Given the description of an element on the screen output the (x, y) to click on. 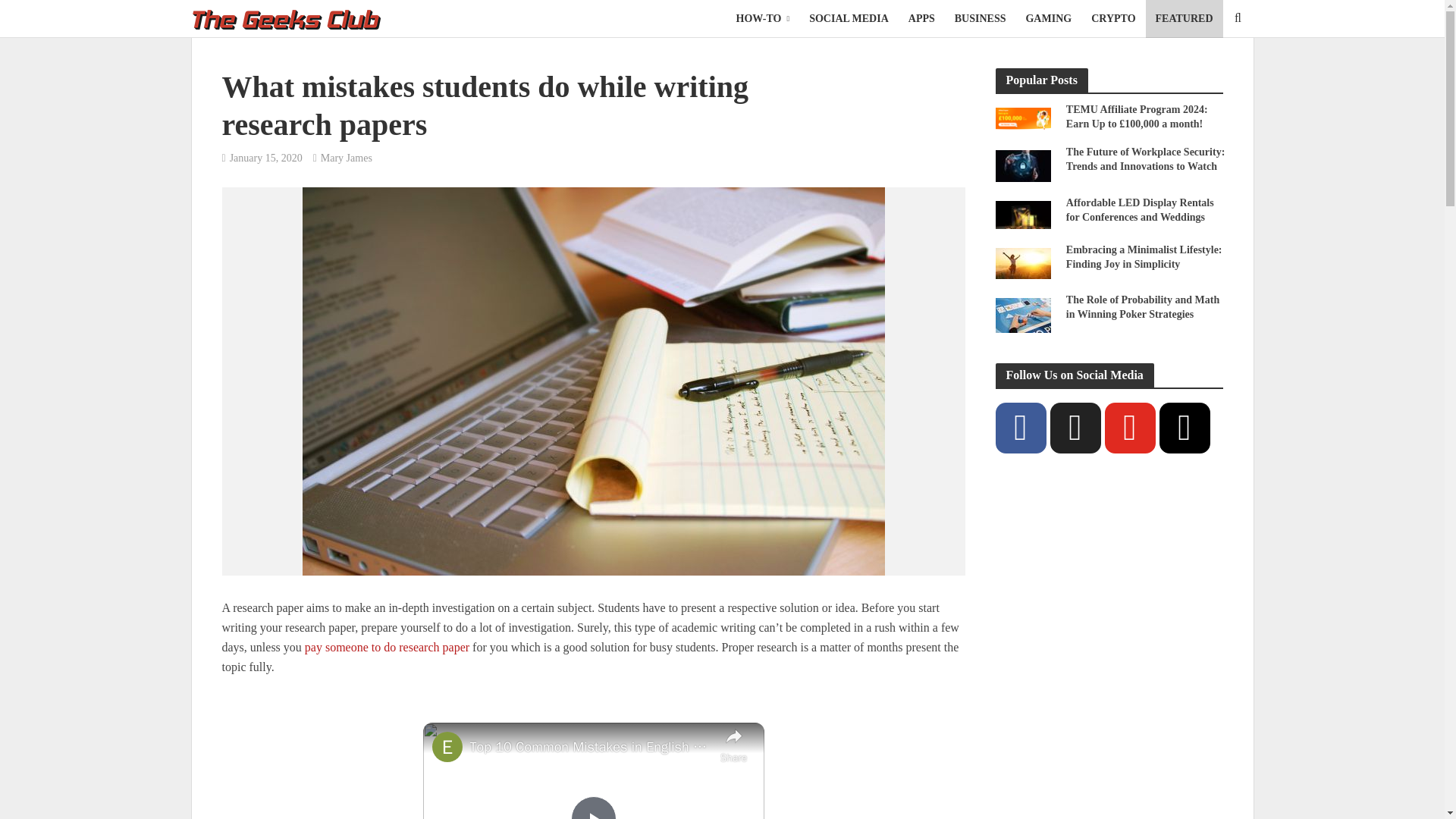
APPS (921, 18)
pay someone to do research paper (386, 648)
SOCIAL MEDIA (848, 18)
Embracing a Minimalist Lifestyle: Finding Joy in Simplicity (1021, 262)
Play Video (592, 807)
Affordable LED Display Rentals for Conferences and Weddings (1021, 214)
FEATURED (1184, 18)
CRYPTO (1112, 18)
Play Video (592, 807)
BUSINESS (980, 18)
Mary James (346, 159)
HOW-TO (762, 18)
GAMING (1047, 18)
